Given the description of an element on the screen output the (x, y) to click on. 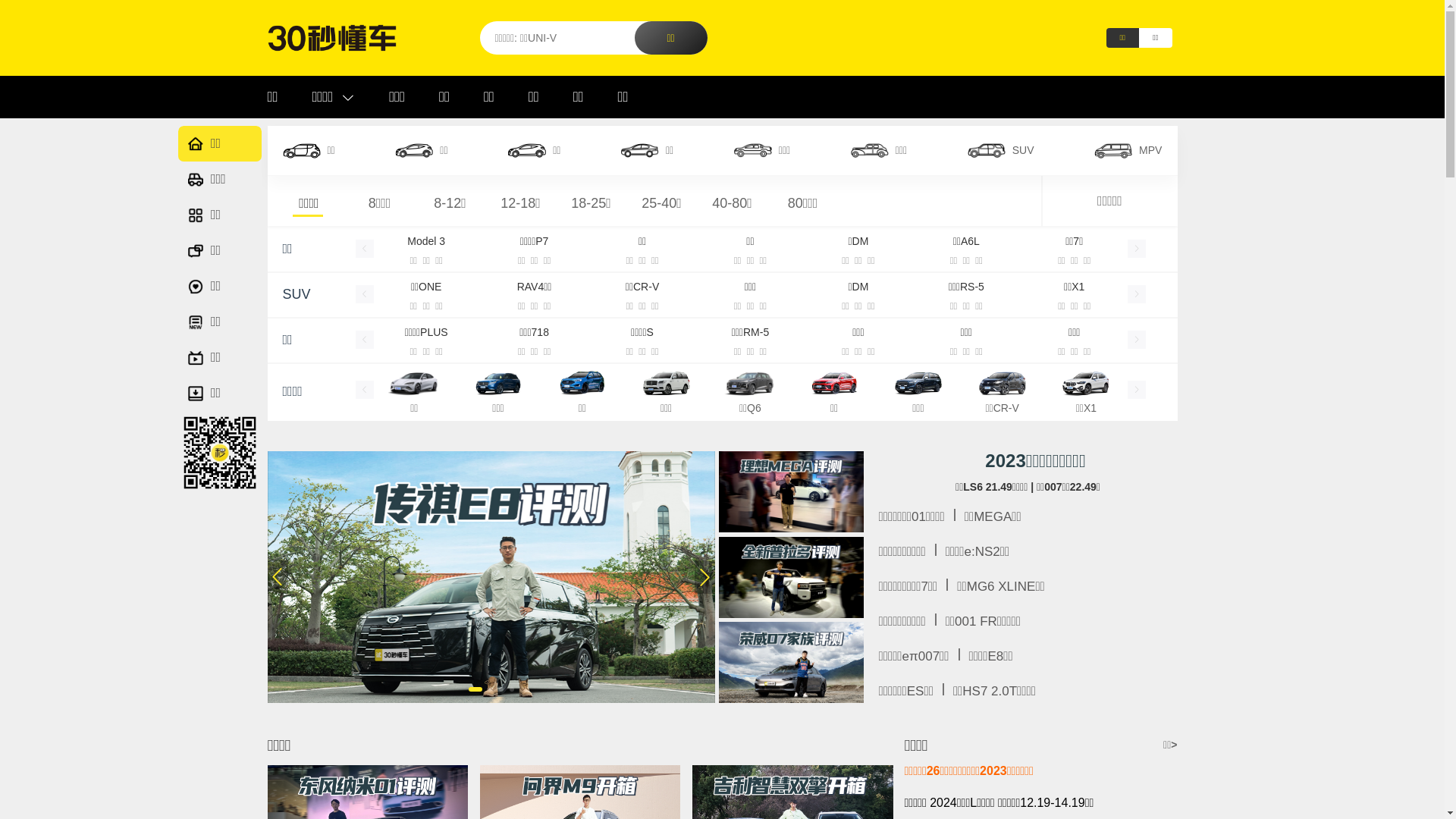
MPV Element type: text (1127, 150)
SUV Element type: text (1000, 150)
Model 3 Element type: text (426, 241)
